Given the description of an element on the screen output the (x, y) to click on. 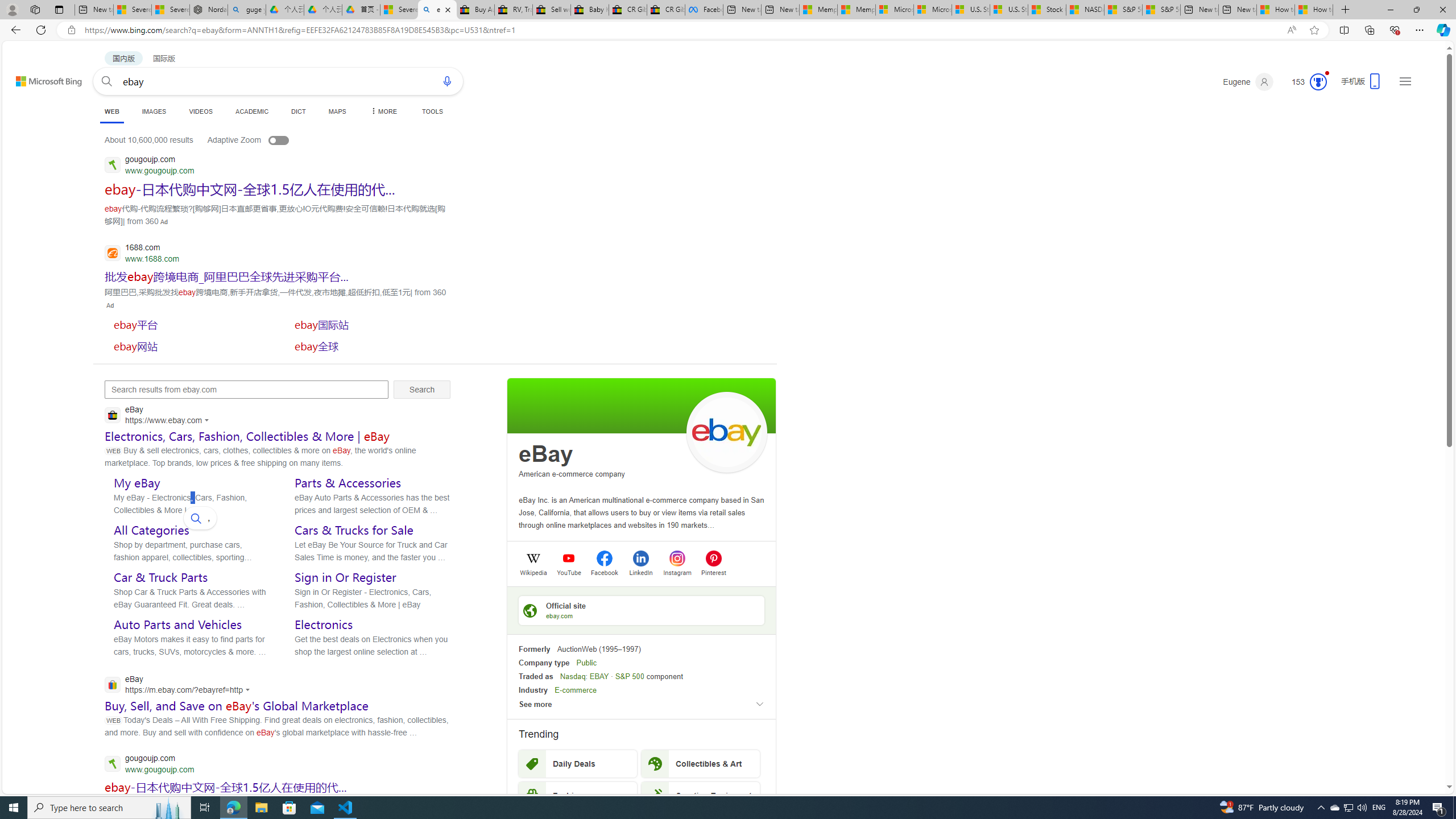
Car & Truck Parts (160, 577)
Settings and quick links (1404, 80)
SERP,5704 (249, 189)
MAPS (336, 111)
American e-commerce company (572, 474)
Electronics (323, 624)
All Categories (151, 529)
Public (586, 662)
Cars & Trucks for Sale (353, 529)
